Given the description of an element on the screen output the (x, y) to click on. 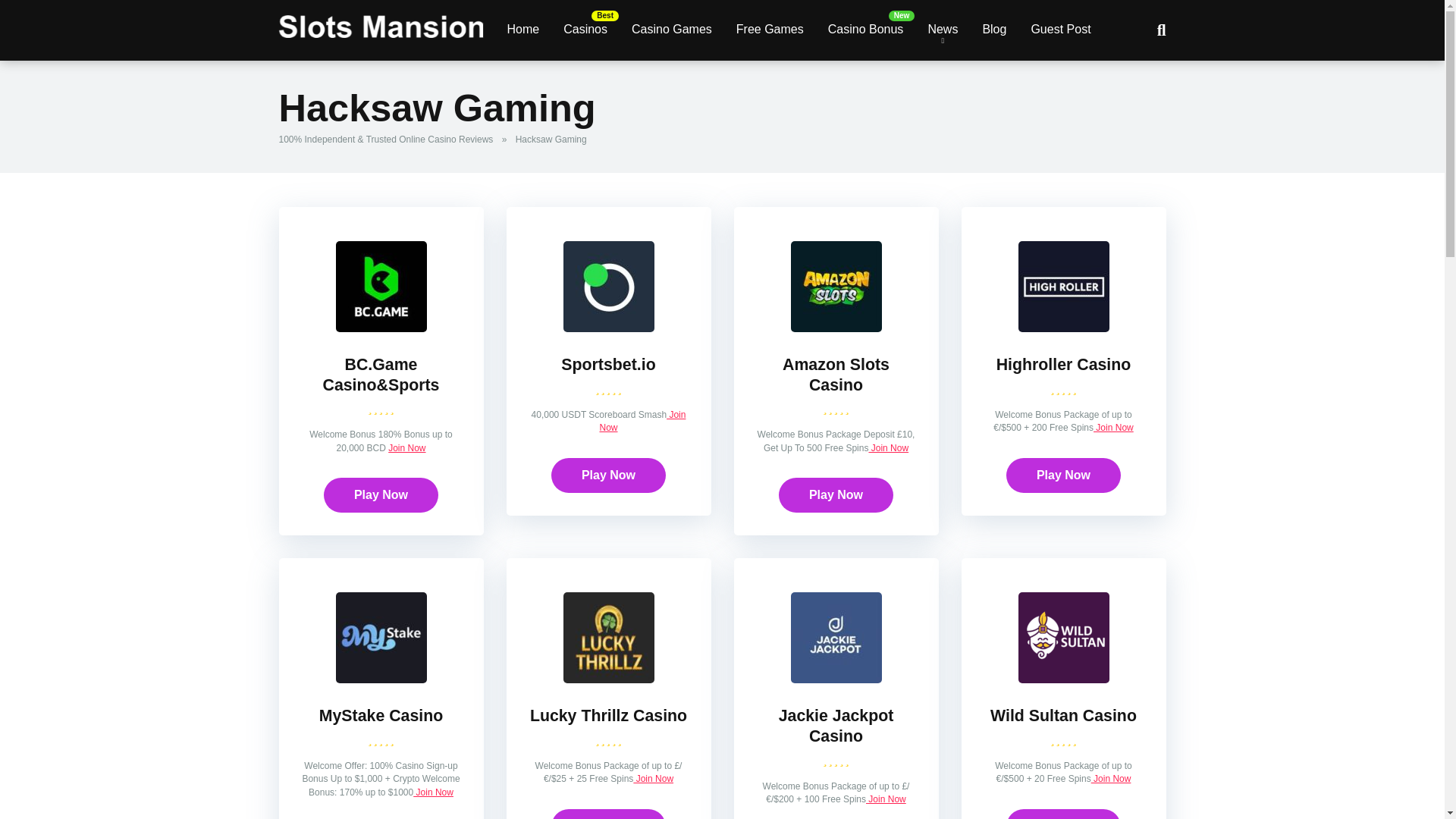
Highroller Casino (1063, 364)
Join Now (1113, 427)
Home (523, 30)
Join Now (887, 448)
News (942, 30)
Join Now (406, 448)
Play Now (1063, 475)
Play Now (835, 494)
Join Now (641, 421)
Play Now (608, 814)
Join Now (652, 778)
Sportsbet.io (607, 364)
Jackie Jackpot Casino (835, 678)
MyStake Casino (380, 678)
Play Now (608, 475)
